Given the description of an element on the screen output the (x, y) to click on. 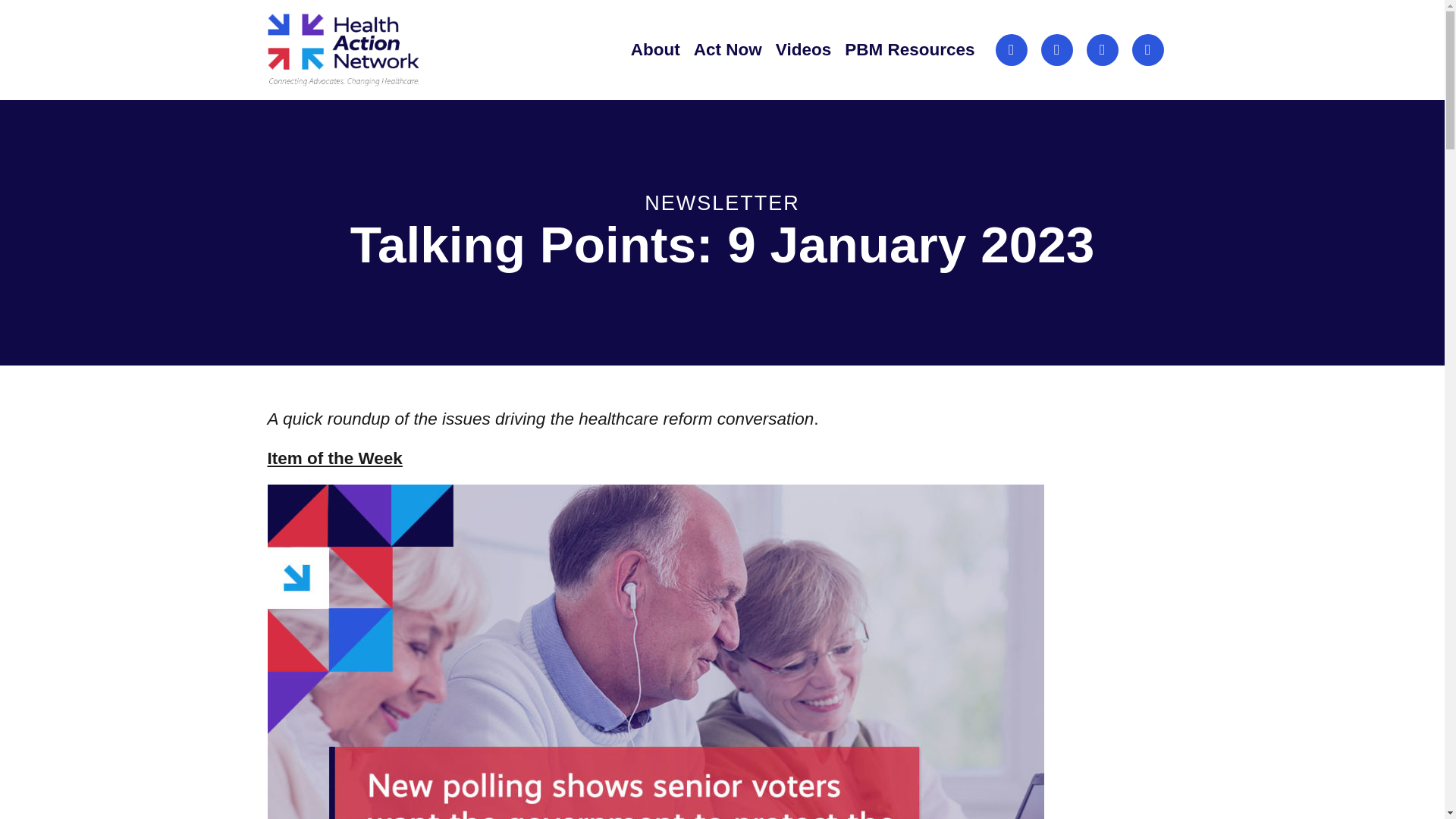
Videos (803, 49)
PBM Resources (909, 49)
Act Now (727, 49)
About (654, 49)
